Given the description of an element on the screen output the (x, y) to click on. 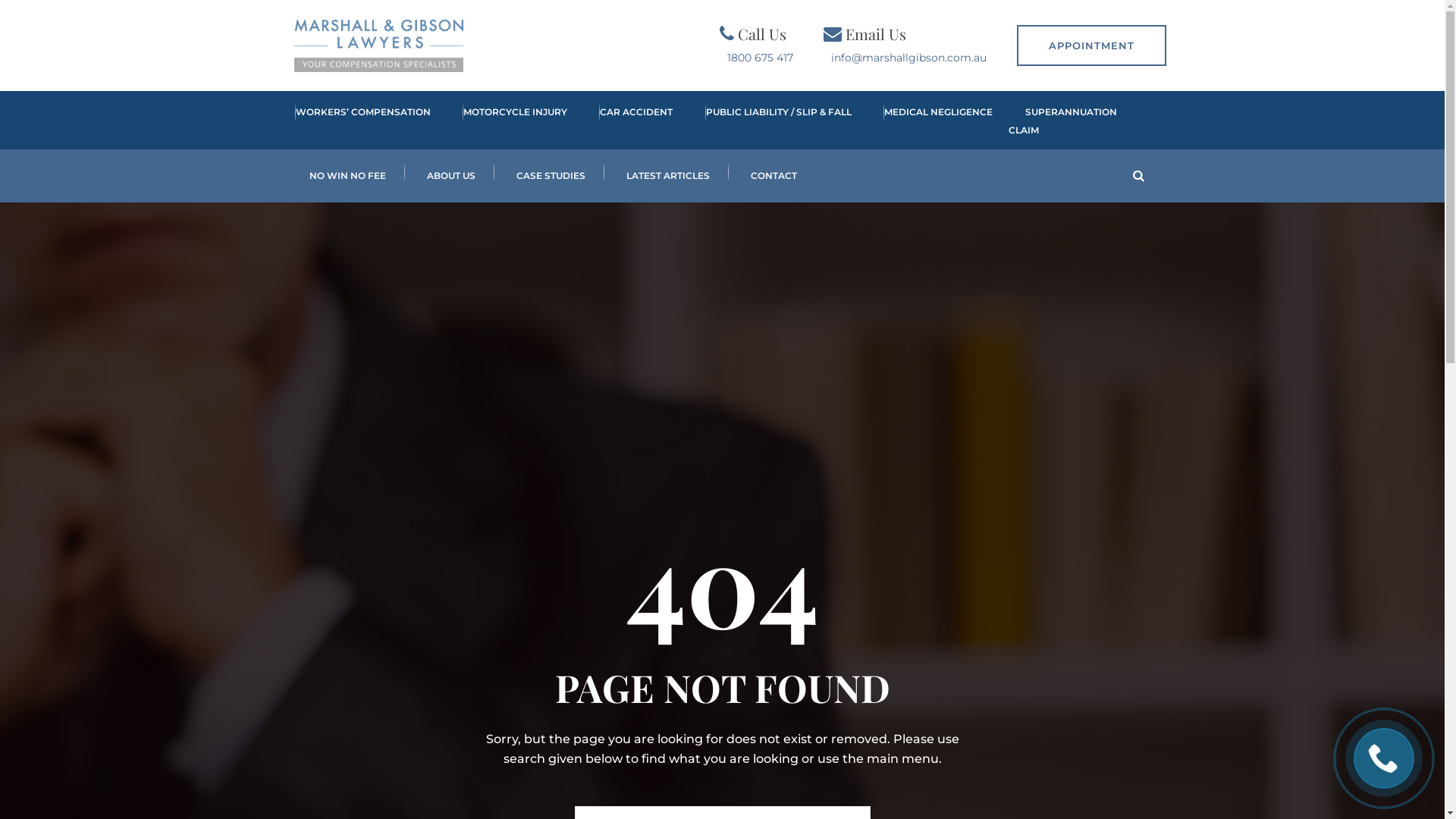
APPOINTMENT Element type: text (1090, 45)
Email Us Element type: text (874, 33)
NO WIN NO FEE Element type: text (346, 175)
ABOUT US Element type: text (450, 175)
CAR ACCIDENT Element type: text (627, 120)
info@marshallgibson.com.au Element type: text (908, 57)
CONTACT Element type: text (773, 175)
CASE STUDIES Element type: text (550, 175)
MG Compensation Lawyers Sydney Element type: hover (378, 45)
MOTORCYCLE INJURY Element type: text (506, 120)
MEDICAL NEGLIGENCE Element type: text (929, 120)
PUBLIC LIABILITY / SLIP & FALL Element type: text (770, 120)
LATEST ARTICLES Element type: text (667, 175)
1800 675 417 Element type: text (759, 57)
SUPERANNUATION CLAIM Element type: text (1062, 120)
